Given the description of an element on the screen output the (x, y) to click on. 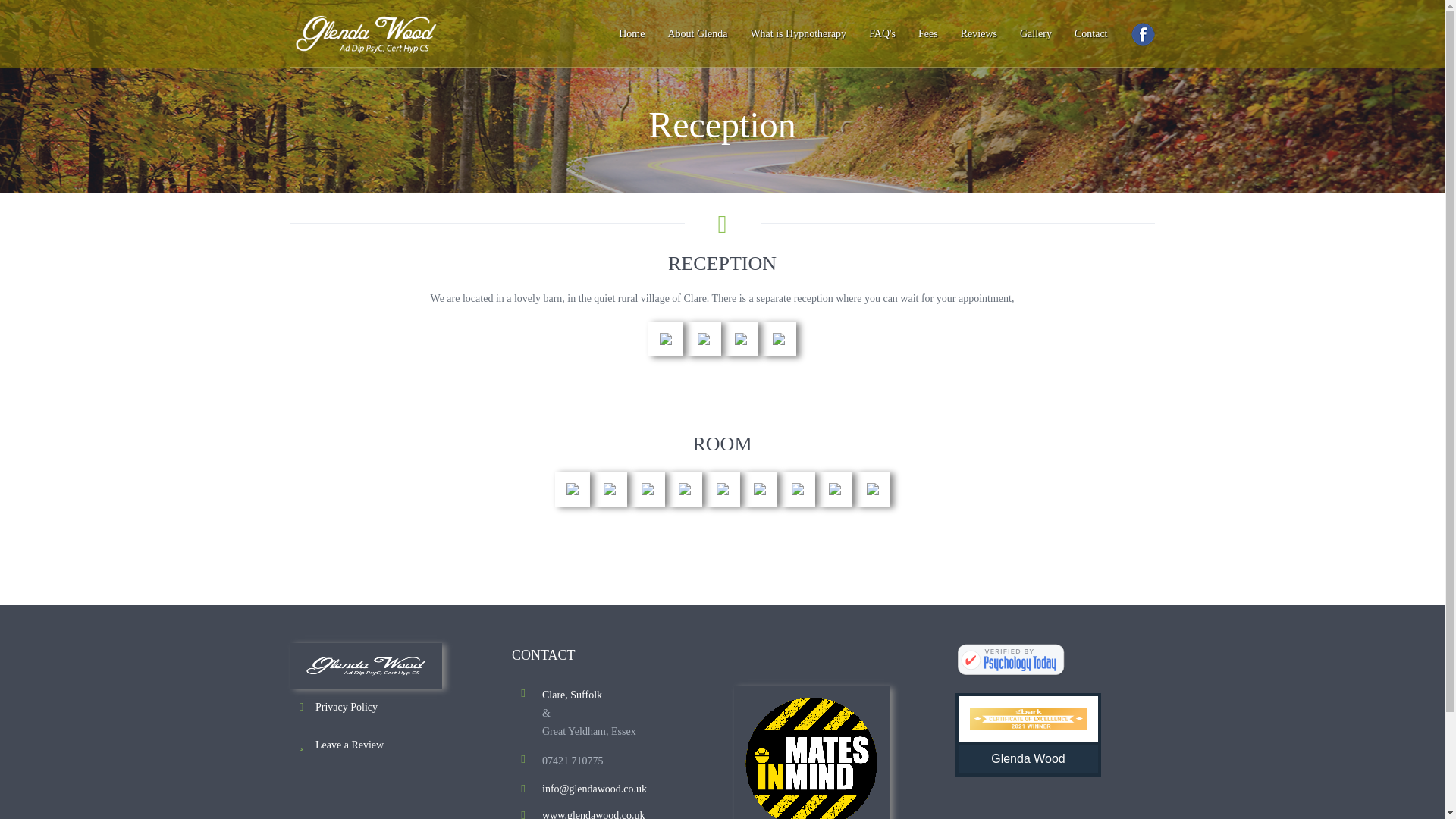
Glenda Wood (1027, 734)
Clare, Suffolk (571, 695)
Gallery (1035, 34)
Privacy Policy (346, 706)
Contact (1090, 34)
Reviews (979, 34)
What is Hypnotherapy (797, 34)
Home (631, 34)
Glenda Wood (1010, 660)
www.glendawood.co.uk (593, 814)
Fees (928, 34)
Leave a Review (349, 745)
FAQ's (882, 34)
About Glenda (697, 34)
